Given the description of an element on the screen output the (x, y) to click on. 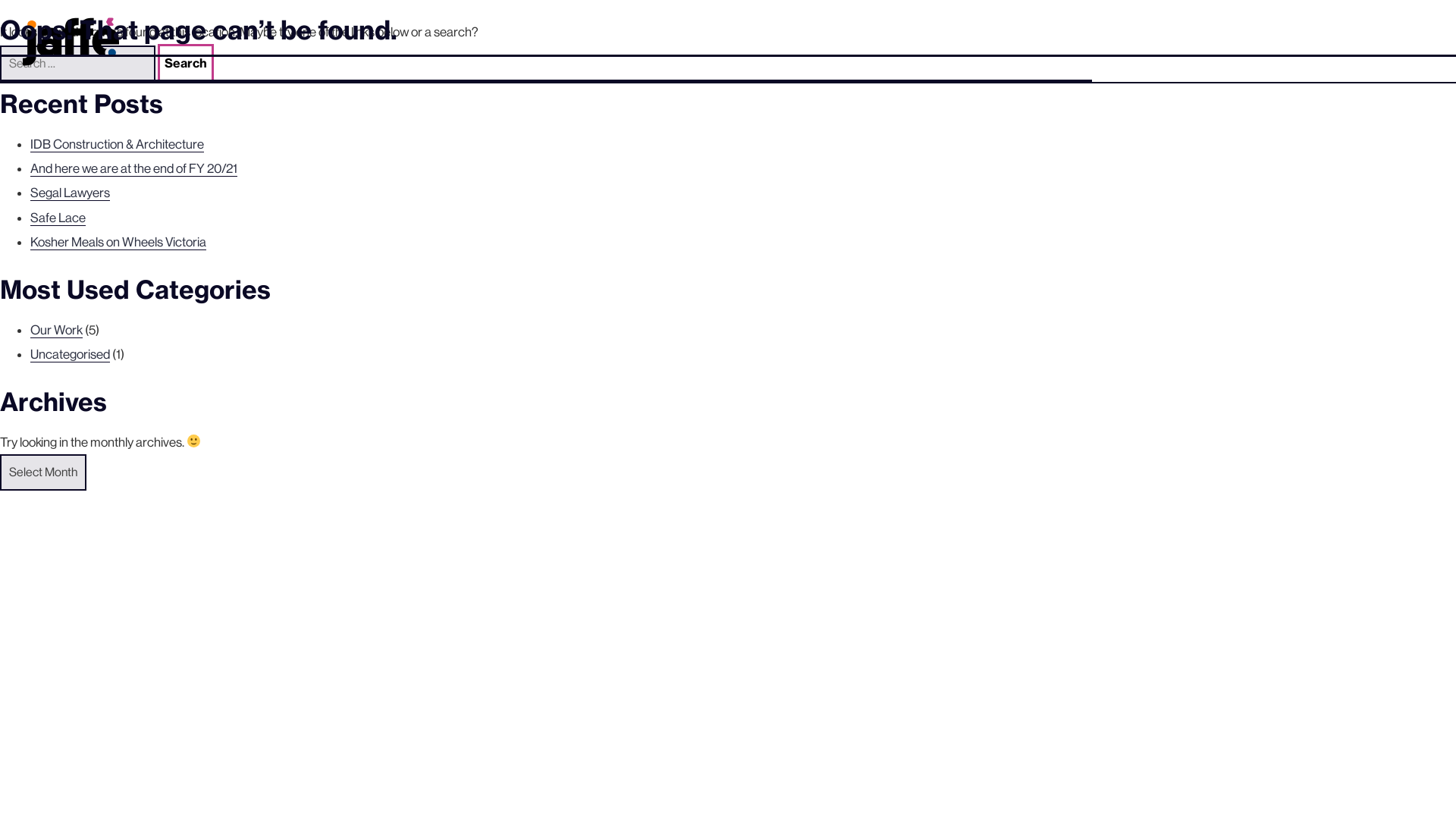
Segal Lawyers Element type: text (69, 192)
IDB Construction & Architecture Element type: text (116, 144)
Kosher Meals on Wheels Victoria Element type: text (118, 242)
Uncategorised Element type: text (69, 354)
Safe Lace Element type: text (57, 217)
And here we are at the end of FY 20/21 Element type: text (133, 168)
Search Element type: text (185, 62)
Our Work Element type: text (56, 330)
